Given the description of an element on the screen output the (x, y) to click on. 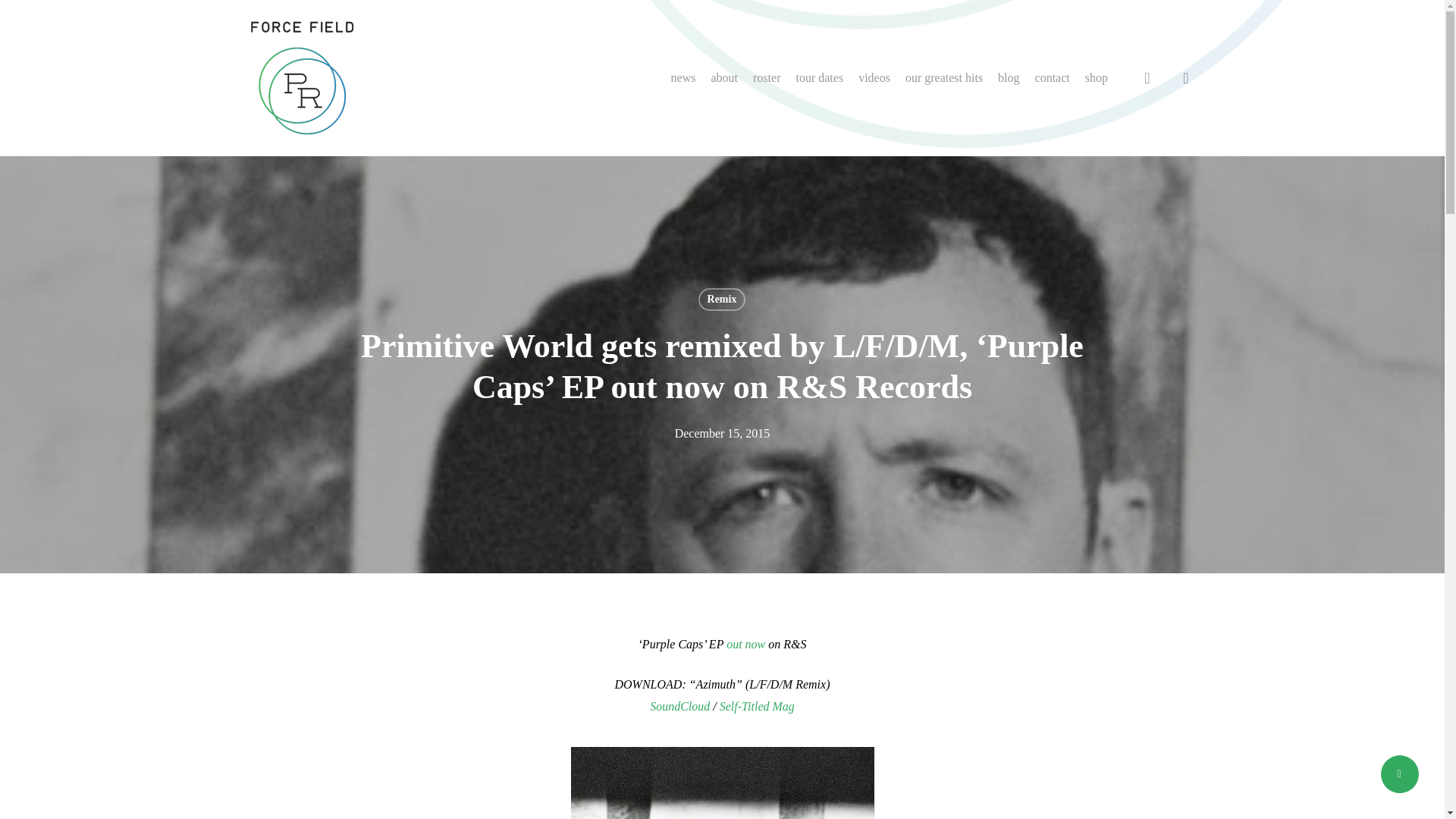
Remix (721, 299)
news (683, 77)
videos (874, 77)
tour dates (818, 77)
search (1147, 77)
out now (745, 644)
our greatest hits (944, 77)
contact (1052, 77)
about (724, 77)
shop (1096, 77)
roster (766, 77)
Self-Titled Mag (756, 706)
blog (1008, 77)
SoundCloud (679, 706)
